Given the description of an element on the screen output the (x, y) to click on. 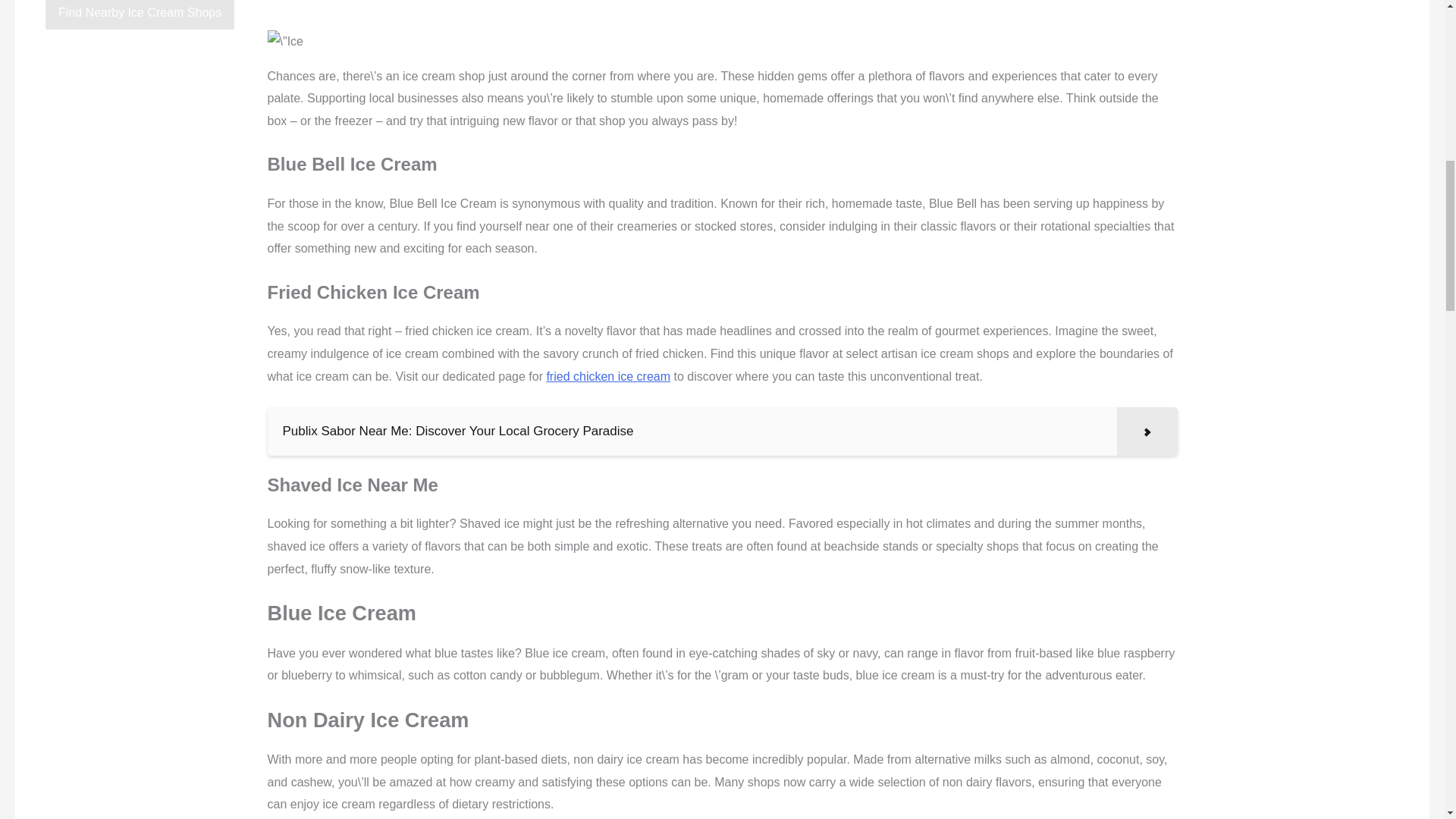
fried chicken ice cream (607, 376)
Find Nearby Ice Cream Shops (139, 14)
Publix Sabor Near Me: Discover Your Local Grocery Paradise (721, 431)
